Given the description of an element on the screen output the (x, y) to click on. 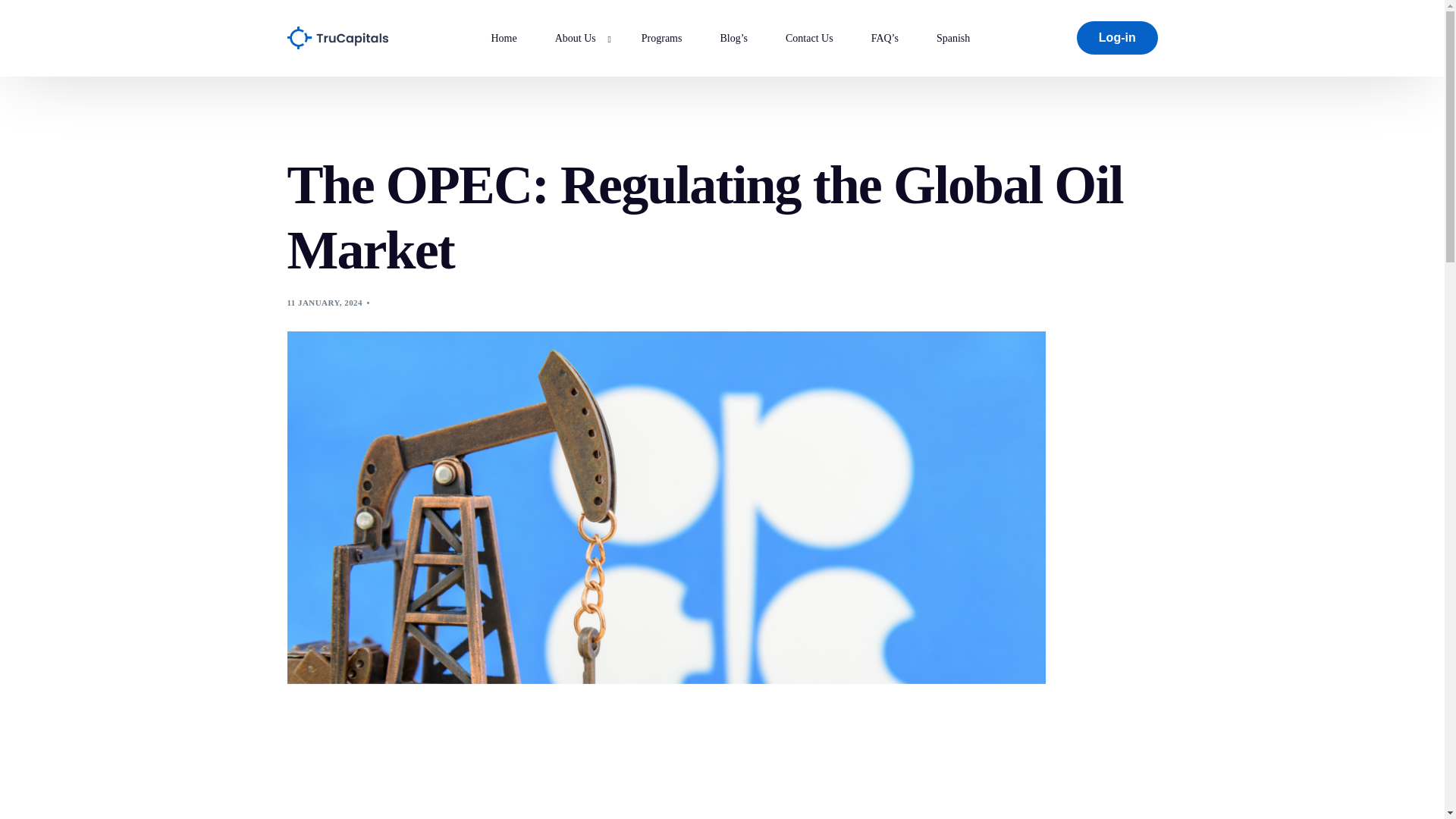
Contact Us (809, 38)
Programs (662, 38)
Log-in (1117, 37)
About Us (579, 38)
Spanish (952, 38)
